Given the description of an element on the screen output the (x, y) to click on. 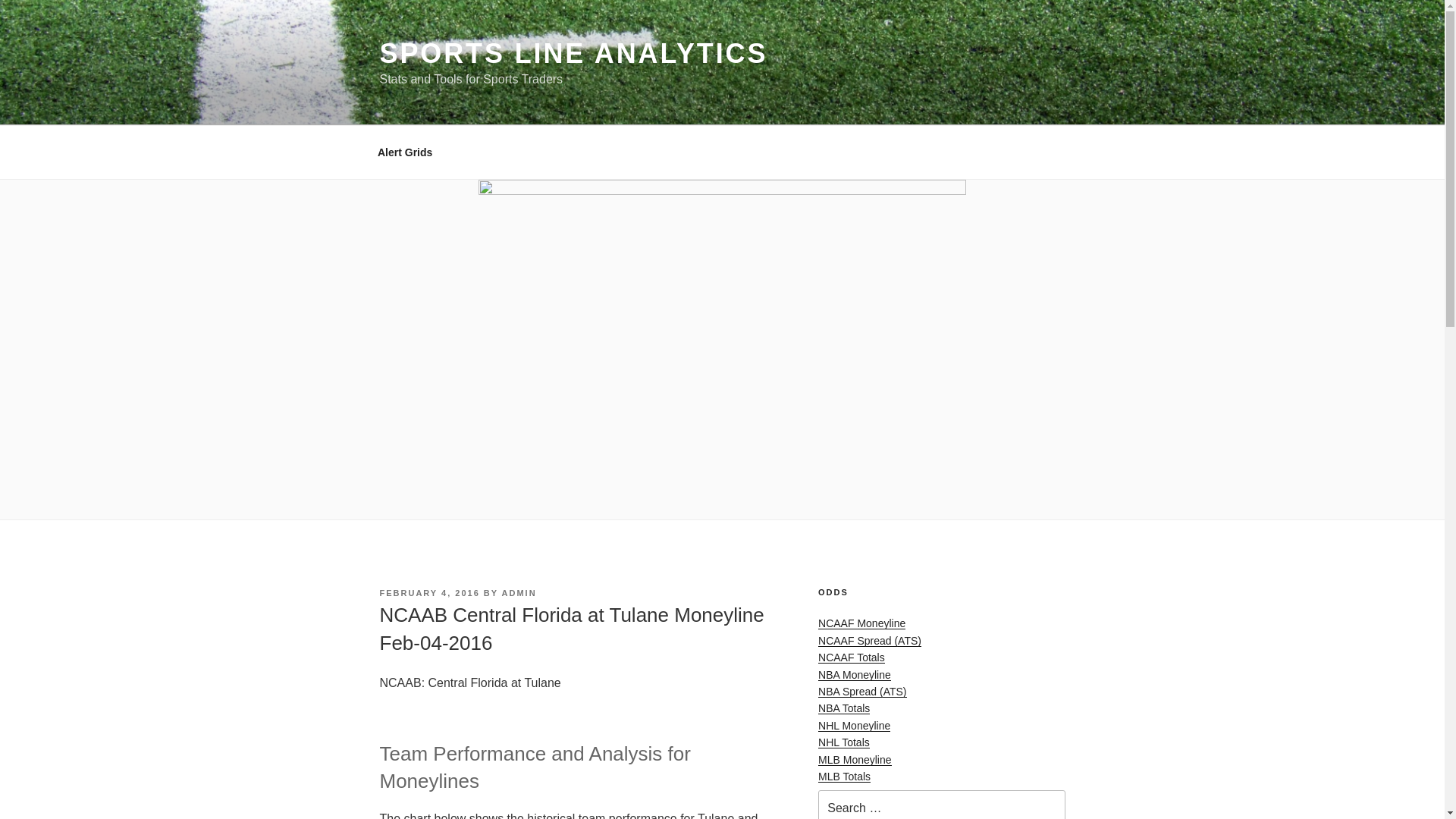
Alert Grids (404, 151)
ADMIN (519, 592)
NBA Moneyline (854, 674)
NHL Moneyline (853, 725)
NHL Totals (843, 742)
MLB Totals (844, 776)
NBA Totals (843, 707)
FEBRUARY 4, 2016 (428, 592)
MLB Moneyline (854, 759)
SPORTS LINE ANALYTICS (572, 52)
